Given the description of an element on the screen output the (x, y) to click on. 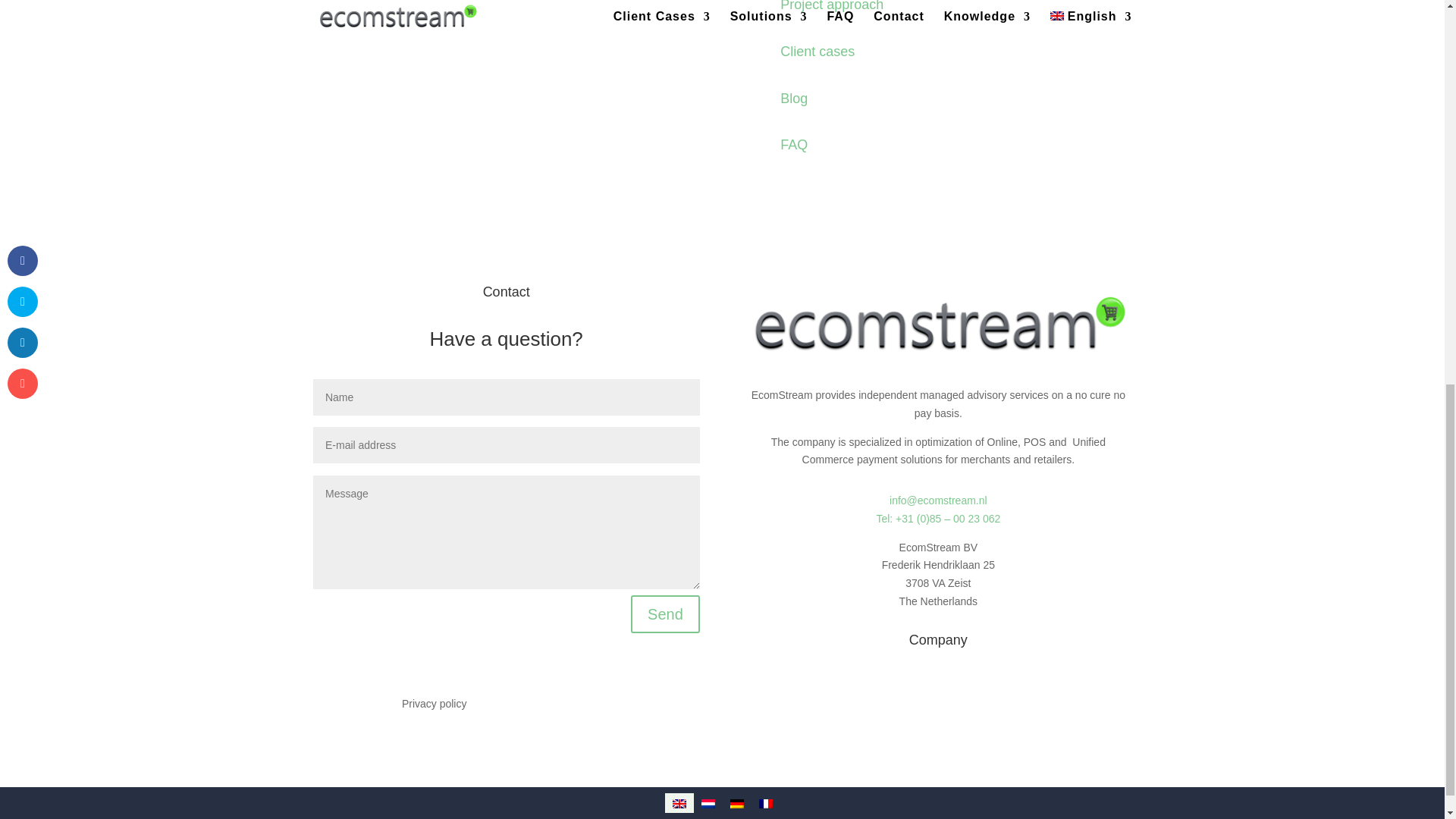
Send (665, 614)
FAQ (794, 144)
Project approach (831, 6)
Follow on Instagram (1024, 707)
Follow on LinkedIn (994, 707)
Blog (794, 98)
Client cases (817, 51)
